Given the description of an element on the screen output the (x, y) to click on. 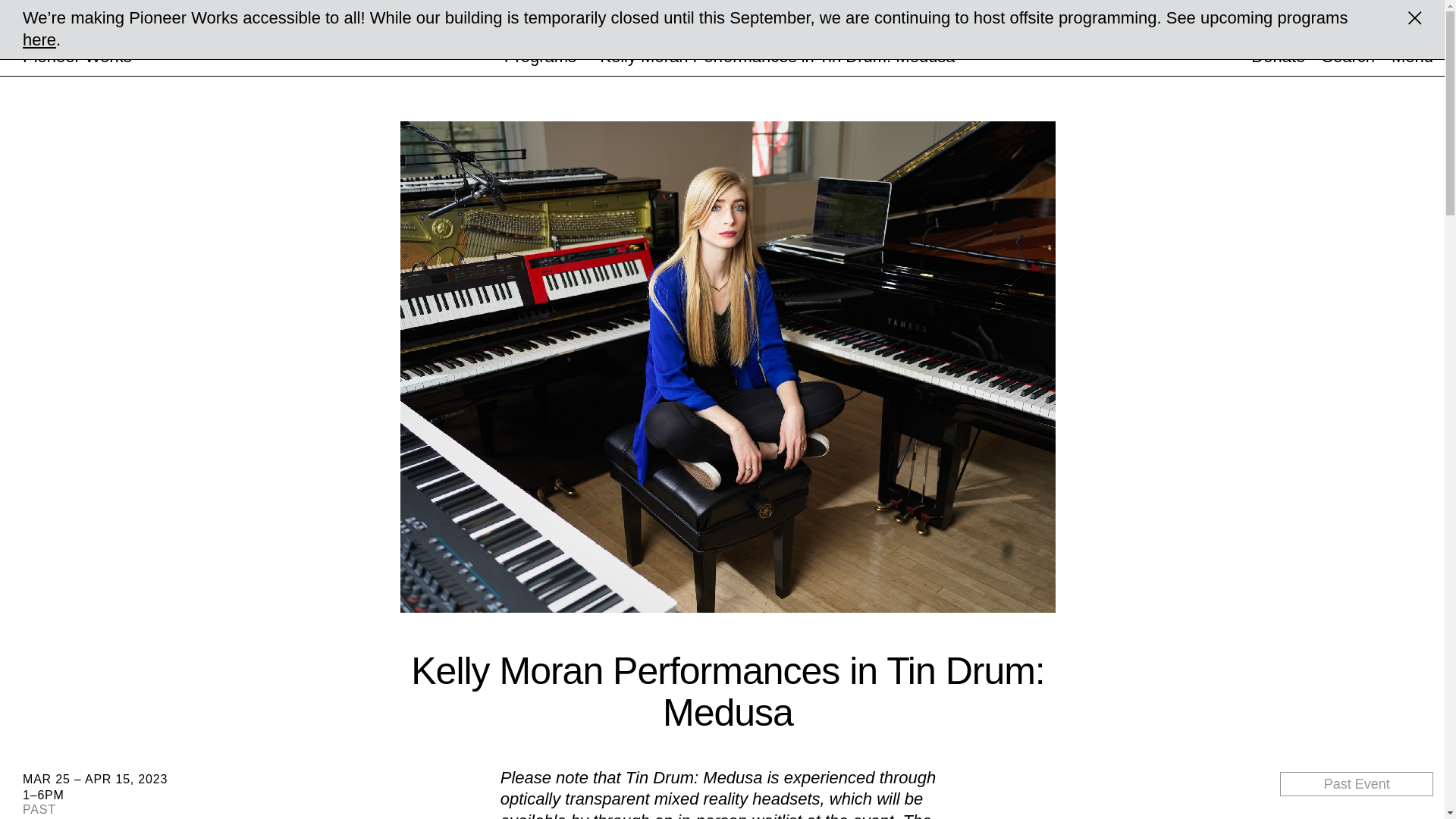
Menu (1411, 56)
Donate (1277, 56)
Past Event (1355, 784)
here (39, 39)
Search (1348, 56)
